Given the description of an element on the screen output the (x, y) to click on. 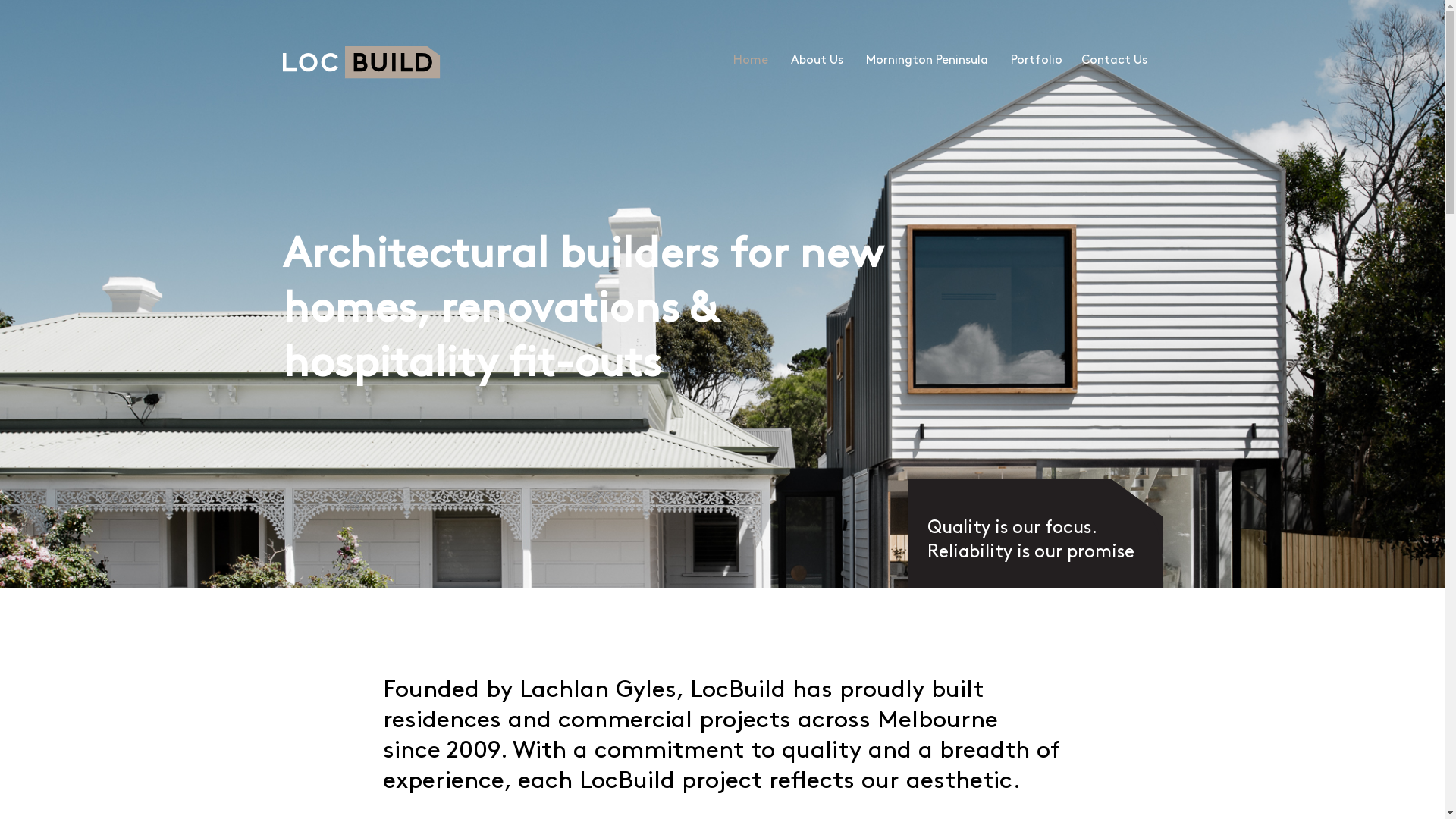
Mornington Peninsula Element type: text (925, 61)
About Us Element type: text (816, 61)
Home Element type: text (750, 61)
Portfolio Element type: text (1034, 61)
Contact Us Element type: text (1113, 61)
